Given the description of an element on the screen output the (x, y) to click on. 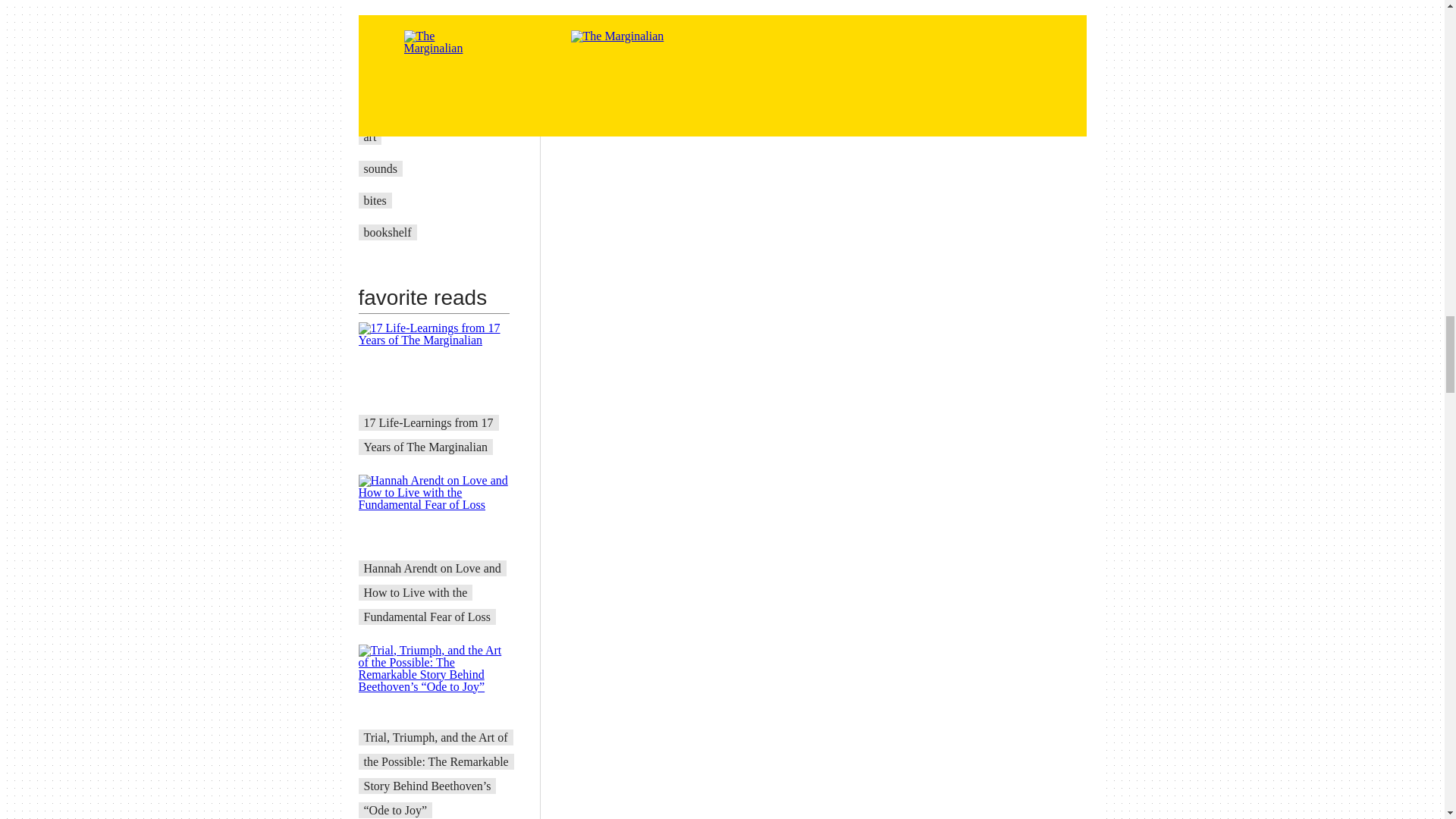
bites (375, 200)
A Velocity of Being (412, 105)
sounds (380, 168)
